Given the description of an element on the screen output the (x, y) to click on. 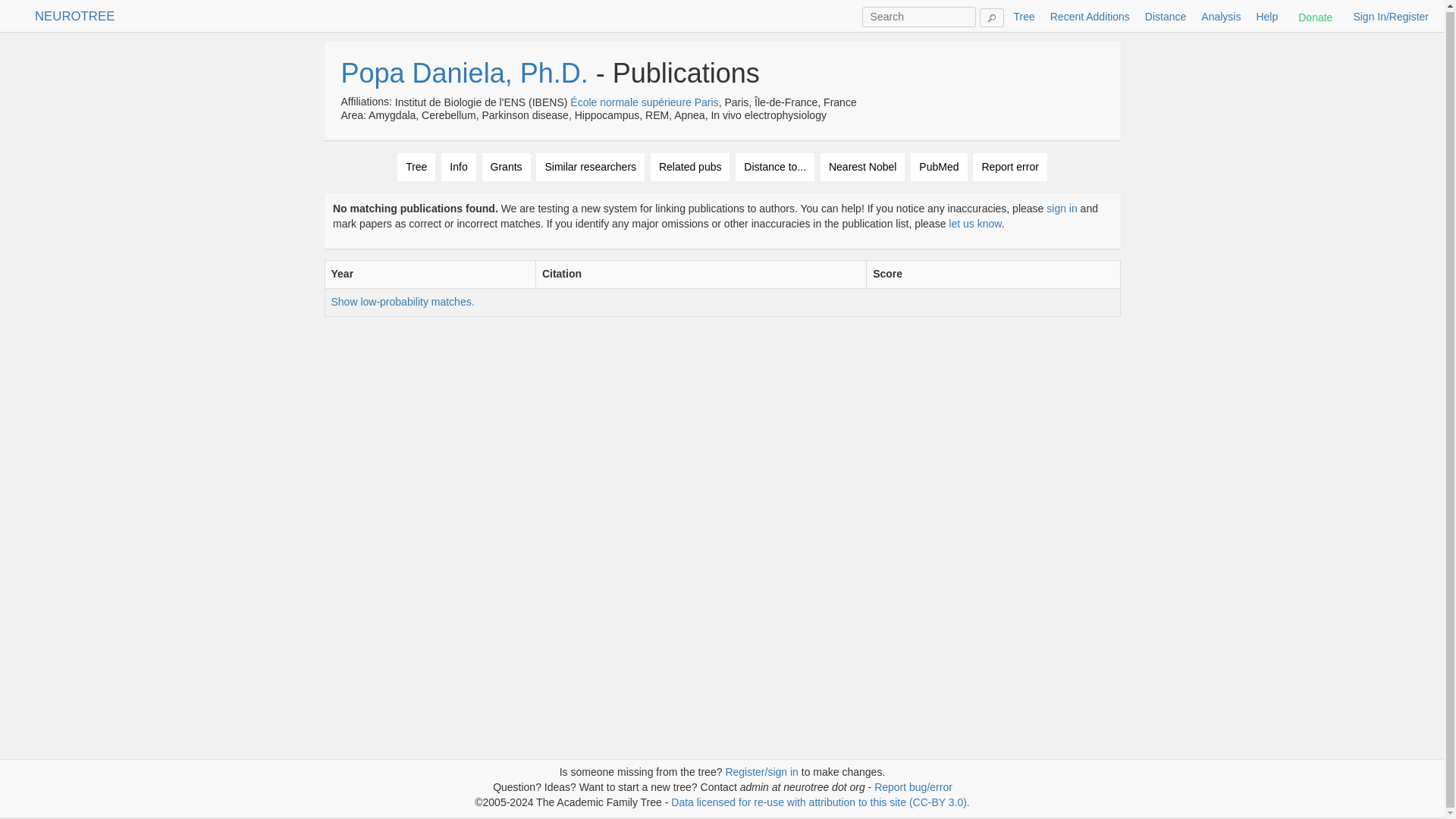
Info (458, 166)
Recent Additions (1089, 15)
Report error (1009, 166)
NEUROTREE (74, 15)
let us know (975, 223)
Related pubs (690, 166)
Nearest Nobel (863, 166)
Help (1266, 15)
PubMed (938, 166)
Similar researchers (590, 166)
Distance (1165, 15)
Popa Daniela, Ph.D. (464, 72)
Show low-probability matches. (402, 301)
Tree (416, 166)
sign in (1061, 208)
